Given the description of an element on the screen output the (x, y) to click on. 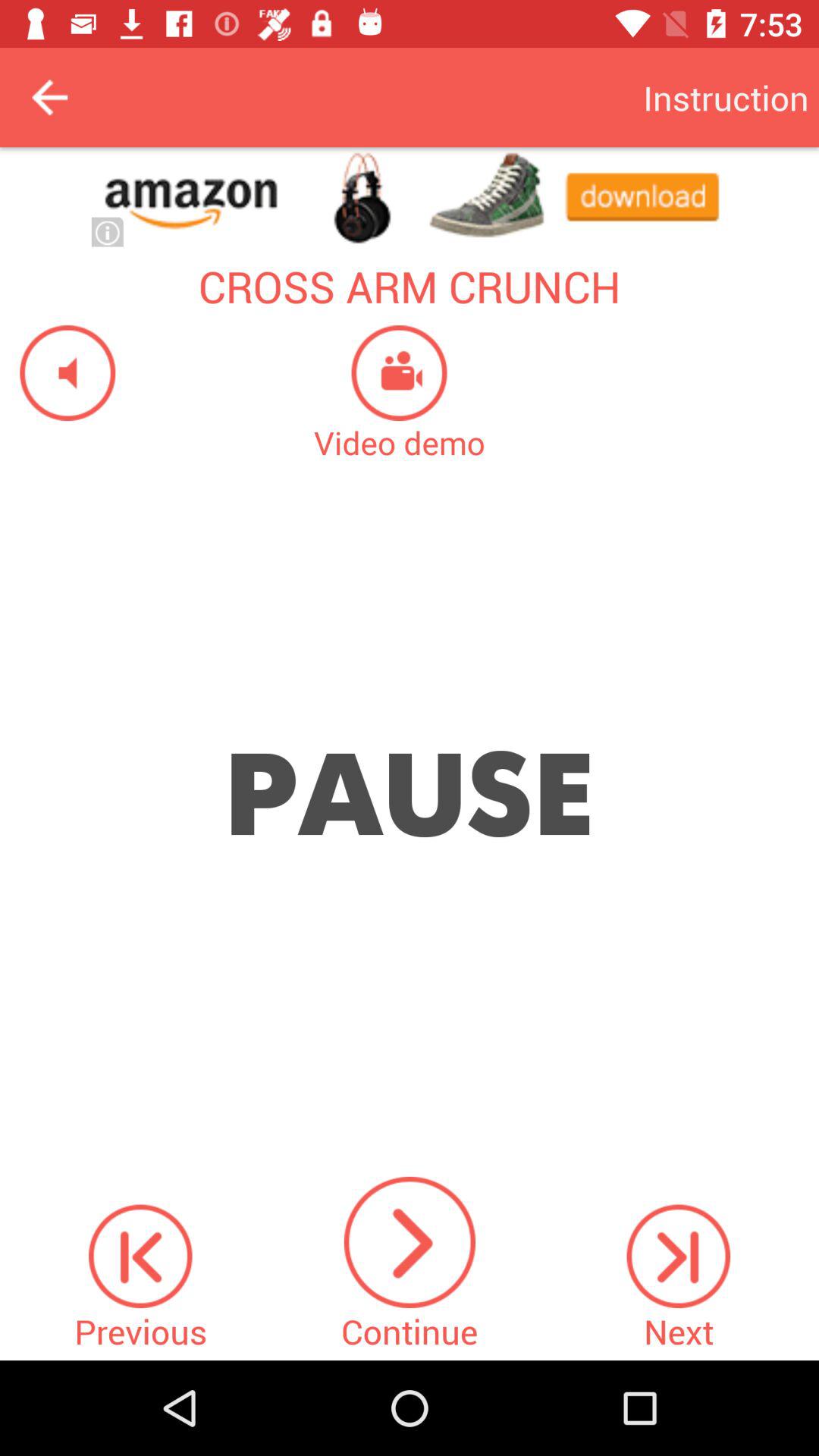
back button (49, 97)
